Given the description of an element on the screen output the (x, y) to click on. 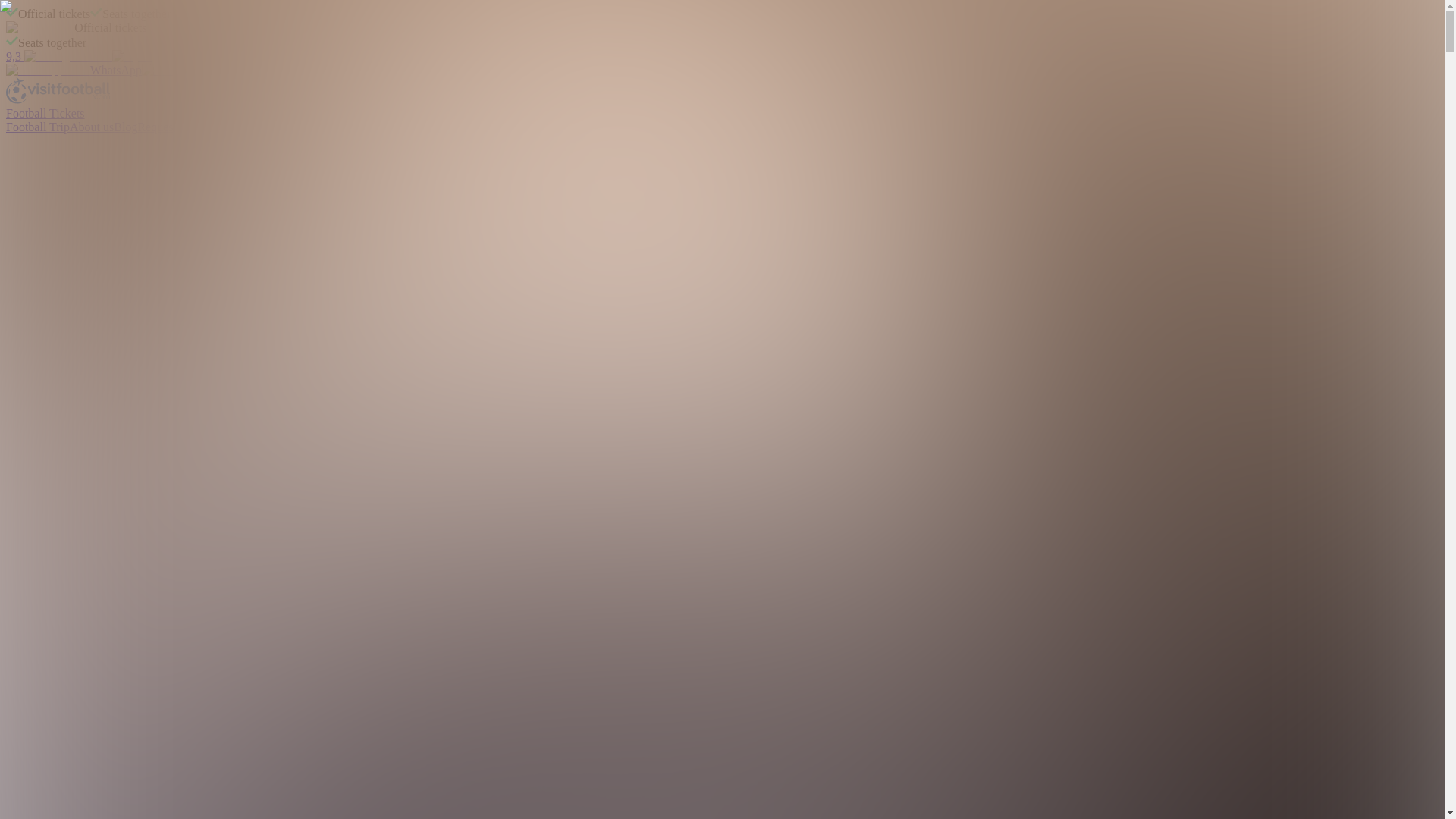
Blog (124, 126)
Football Trip (37, 126)
Football Tickets (44, 113)
WhatsApp (73, 69)
About us (91, 126)
9,3 (78, 56)
